Given the description of an element on the screen output the (x, y) to click on. 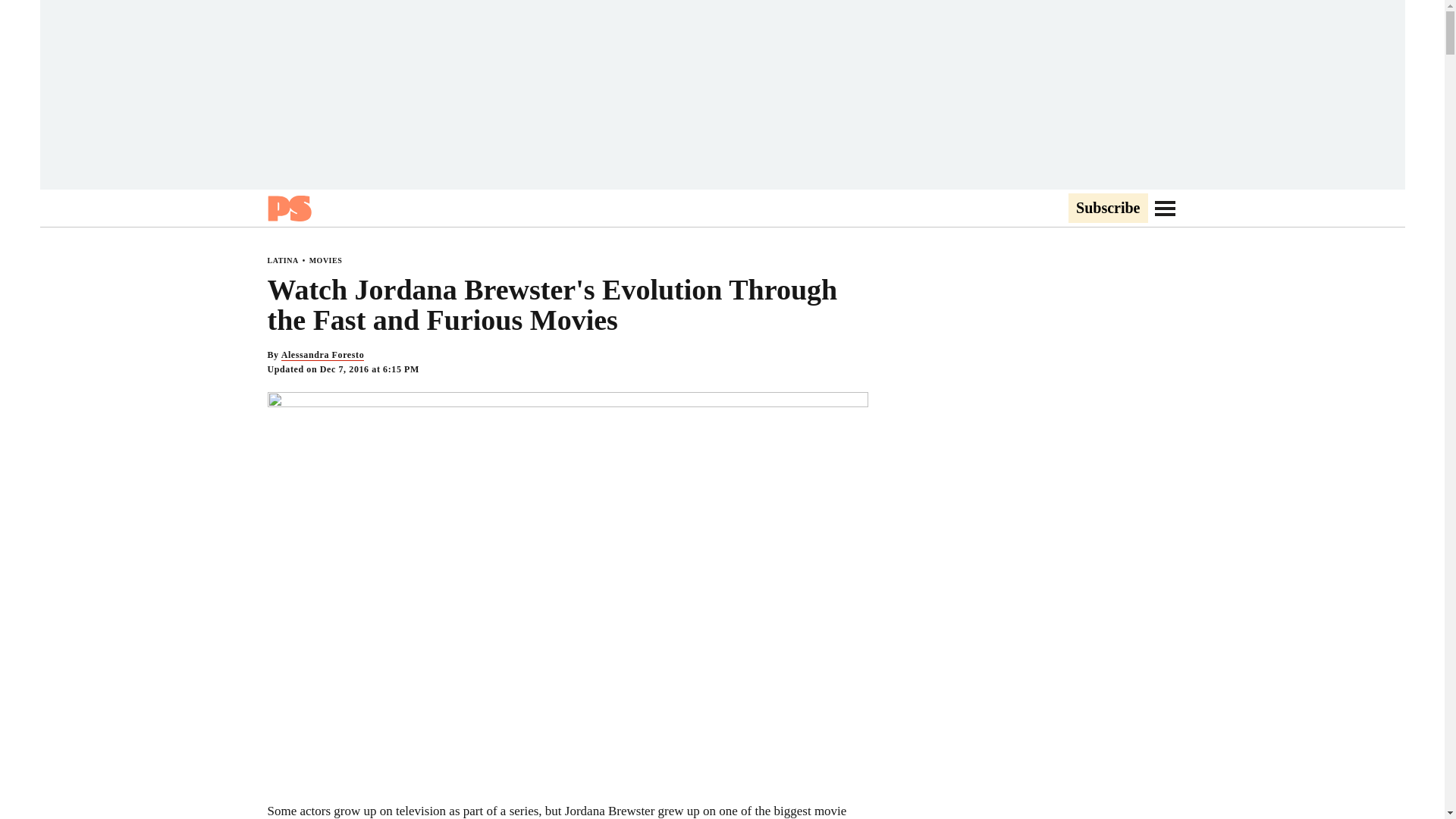
Alessandra Foresto (323, 355)
Subscribe (1107, 208)
Popsugar (288, 208)
MOVIES (325, 260)
Go to Navigation (1164, 207)
LATINA (282, 260)
Go to Navigation (1164, 207)
